Given the description of an element on the screen output the (x, y) to click on. 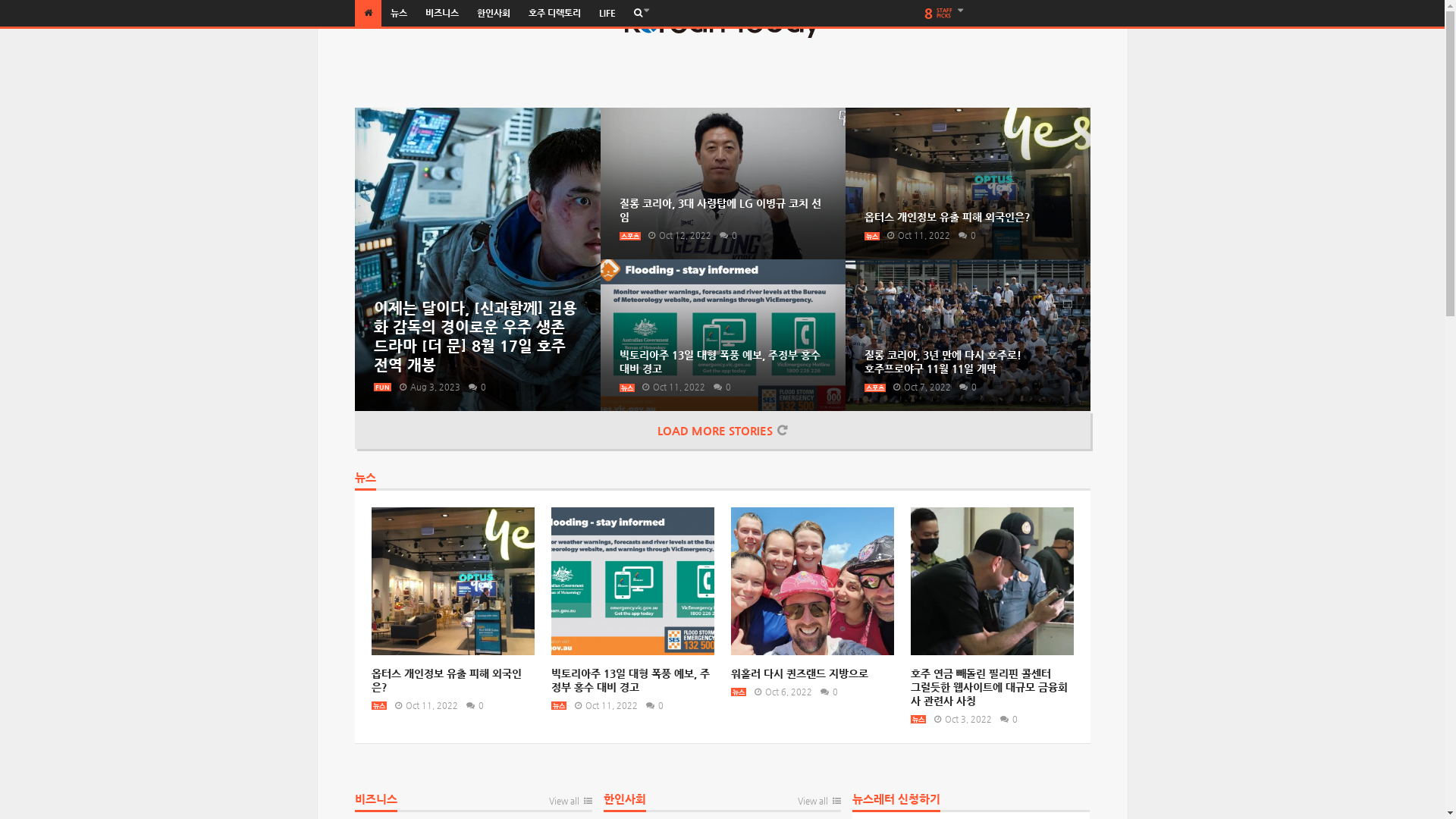
0 Element type: text (1004, 719)
LIFE Element type: text (606, 13)
LOAD MORE STORIES Element type: text (722, 429)
0 Element type: text (963, 387)
View all Element type: text (818, 804)
0 Element type: text (471, 705)
0 Element type: text (825, 691)
View all Element type: text (570, 804)
0 Element type: text (718, 387)
<i class="fa fa-home"></i> Element type: hover (367, 13)
0 Element type: text (474, 387)
0 Element type: text (651, 705)
FUN Element type: text (381, 386)
8
STAFF
PICKS Element type: text (944, 13)
0 Element type: text (963, 235)
0 Element type: text (724, 235)
